Given the description of an element on the screen output the (x, y) to click on. 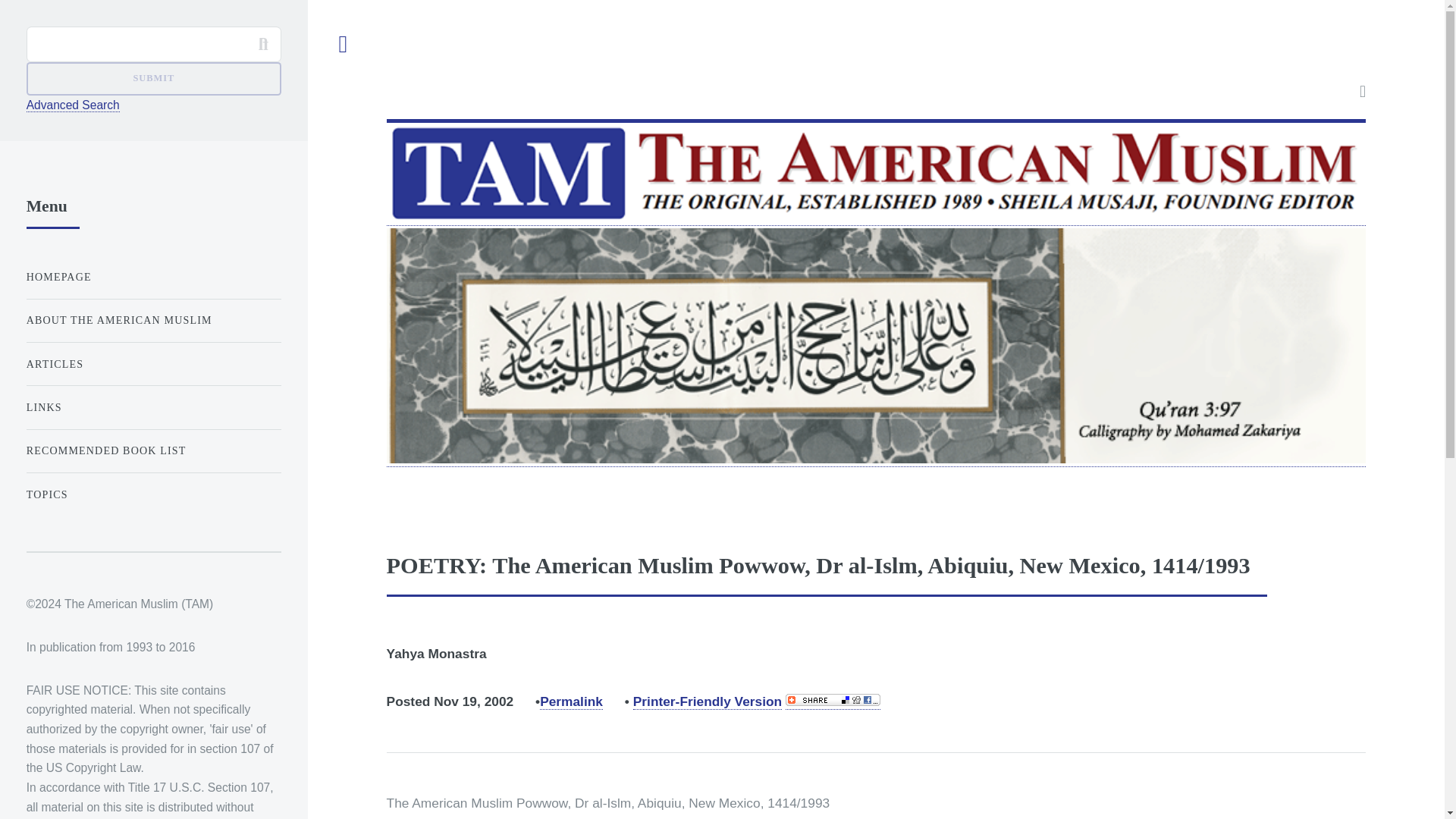
submit (153, 78)
ARTICLES (153, 364)
ABOUT THE AMERICAN MUSLIM (153, 320)
Advanced Search (72, 105)
LINKS (153, 407)
RECOMMENDED BOOK LIST  (153, 450)
HOMEPAGE (153, 276)
submit (153, 78)
Permalink (571, 701)
TOPICS (153, 494)
Printer-Friendly Version (707, 701)
